Given the description of an element on the screen output the (x, y) to click on. 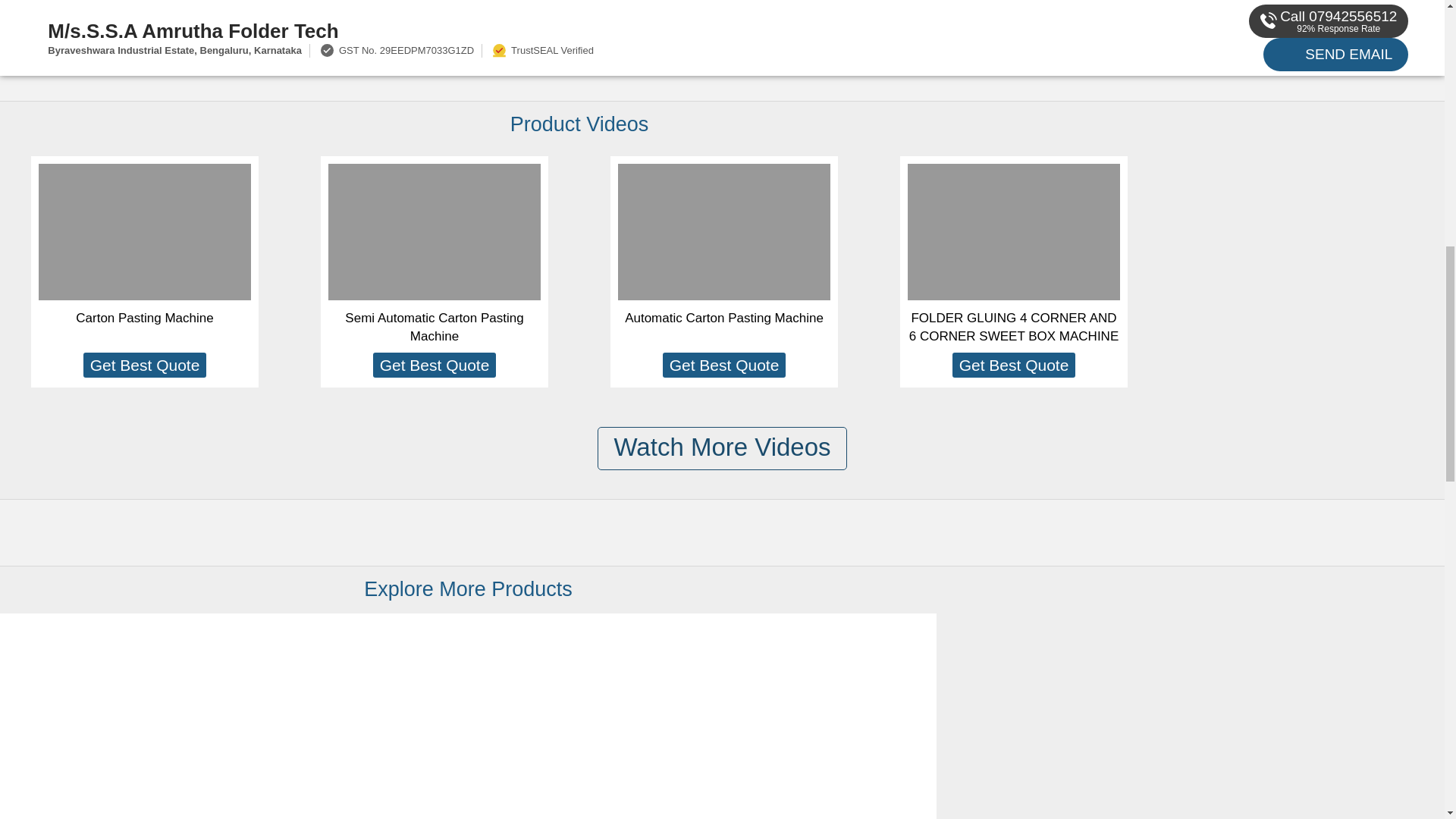
Watch More Videos (720, 448)
Automatic Carton Pasting Machine (724, 318)
Carton Folder And Gluer Machine (108, 738)
Semi Automatic Carton Pasting Machine (433, 327)
FOLDER GLUING 4 CORNER AND 6 CORNER SWEET BOX MACHINE (1013, 327)
Carton Pasting Machine (143, 318)
